Given the description of an element on the screen output the (x, y) to click on. 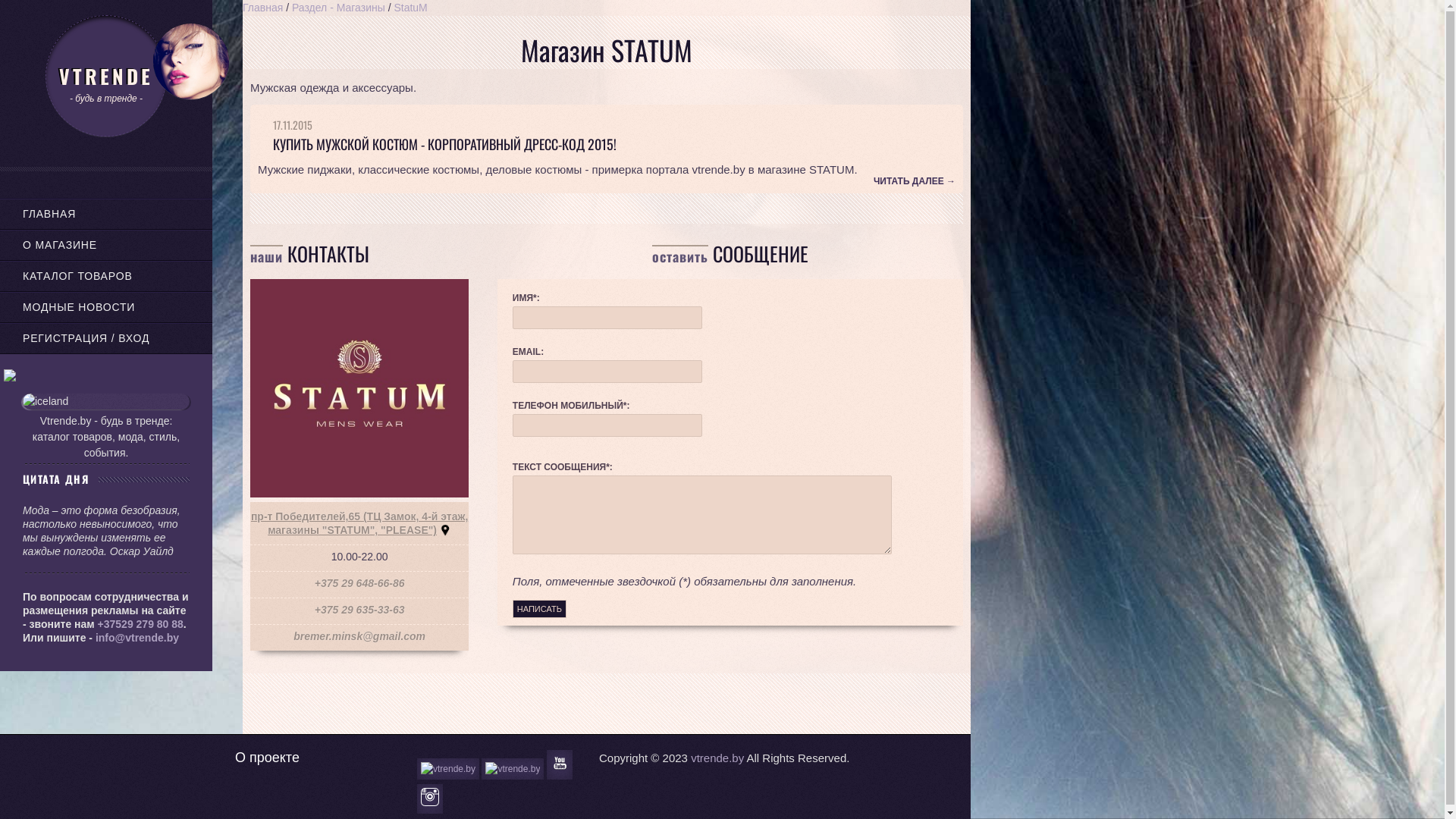
StatuM Element type: text (409, 7)
+37529 279 80 88 Element type: text (140, 624)
+375 29 635-33-63 Element type: text (359, 609)
VTRENDE Element type: text (105, 75)
vtrende.by Element type: text (716, 757)
bremer.minsk@gmail.com Element type: text (359, 636)
info@vtrende.by Element type: text (136, 637)
+375 29 648-66-86 Element type: text (359, 583)
